Given the description of an element on the screen output the (x, y) to click on. 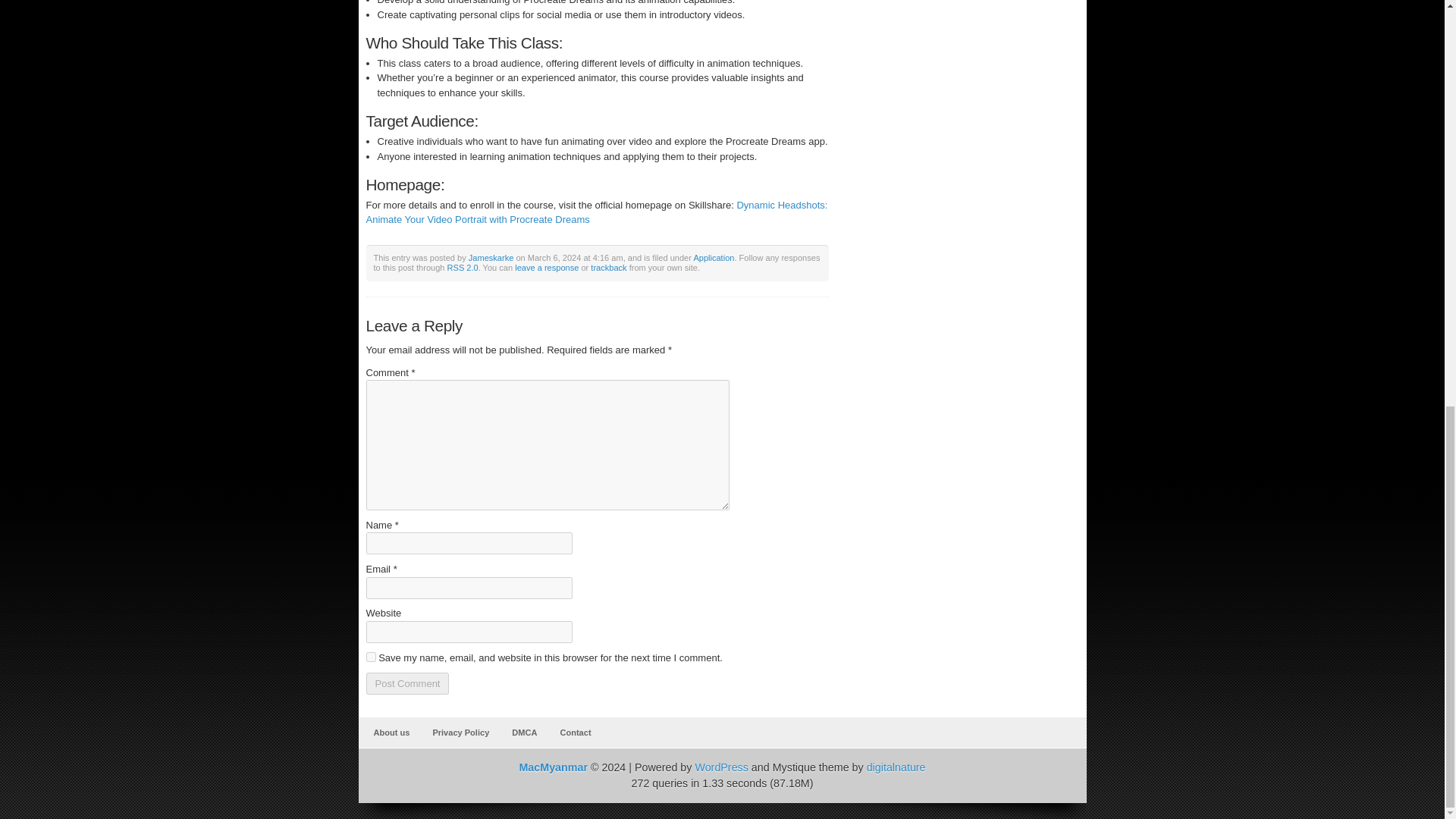
trackback (608, 266)
RSS 2.0 (462, 266)
Contact (574, 732)
MacMyanmar (553, 767)
MacMyanmar (553, 767)
About us (390, 732)
yes (370, 656)
digitalnature (896, 767)
Jameskarke (490, 257)
RSS 2.0 (462, 266)
Privacy Policy (460, 732)
Application (713, 257)
leave a response (546, 266)
DMCA (523, 732)
